Given the description of an element on the screen output the (x, y) to click on. 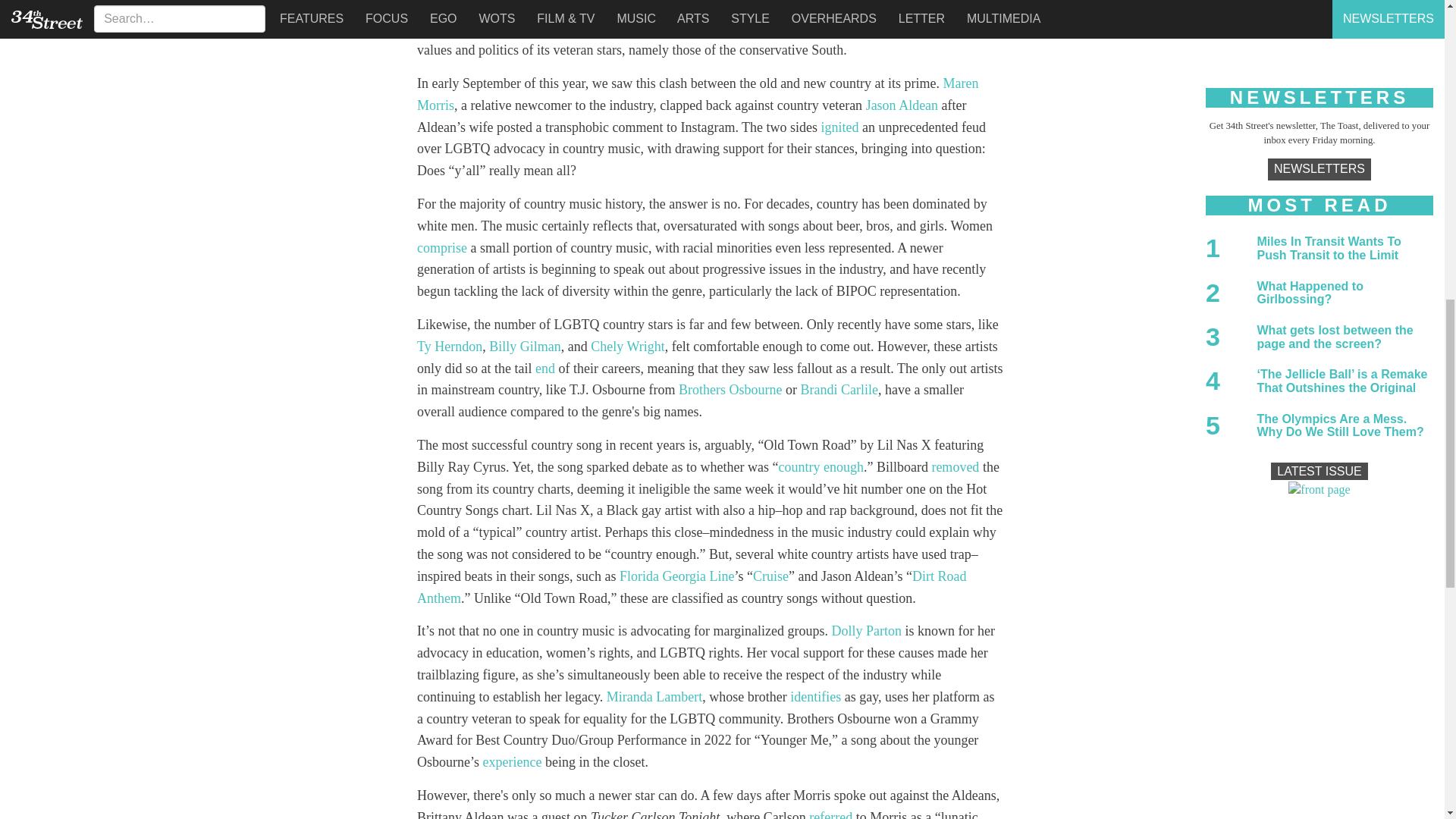
Chely Wright (627, 346)
Brandi Carlile (838, 389)
Jason Aldean (901, 105)
comprise (441, 247)
Maren Morris (697, 94)
Brothers Osbourne (729, 389)
ignited (840, 127)
end (544, 368)
Ty Herndon (448, 346)
Kane Brown (548, 7)
